Given the description of an element on the screen output the (x, y) to click on. 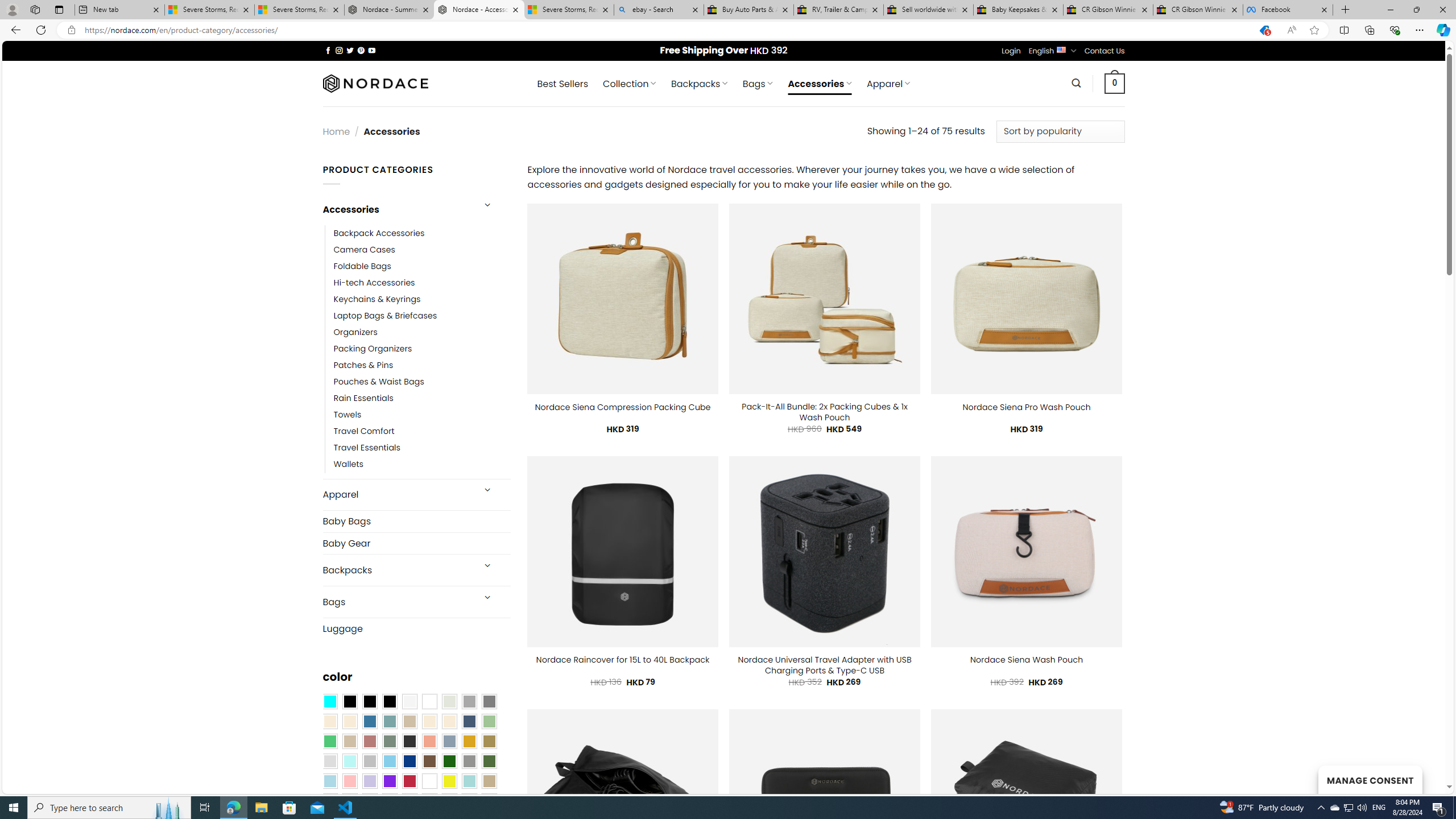
Organizers (422, 332)
Packing Organizers (372, 348)
Aqua (468, 780)
Rain Essentials (422, 398)
Gray (468, 761)
English (1061, 49)
Aqua Blue (329, 701)
Apparel (397, 494)
Baby Gear (416, 542)
Emerald Green (329, 741)
Clear (429, 701)
Travel Essentials (422, 448)
Sage (389, 741)
